Given the description of an element on the screen output the (x, y) to click on. 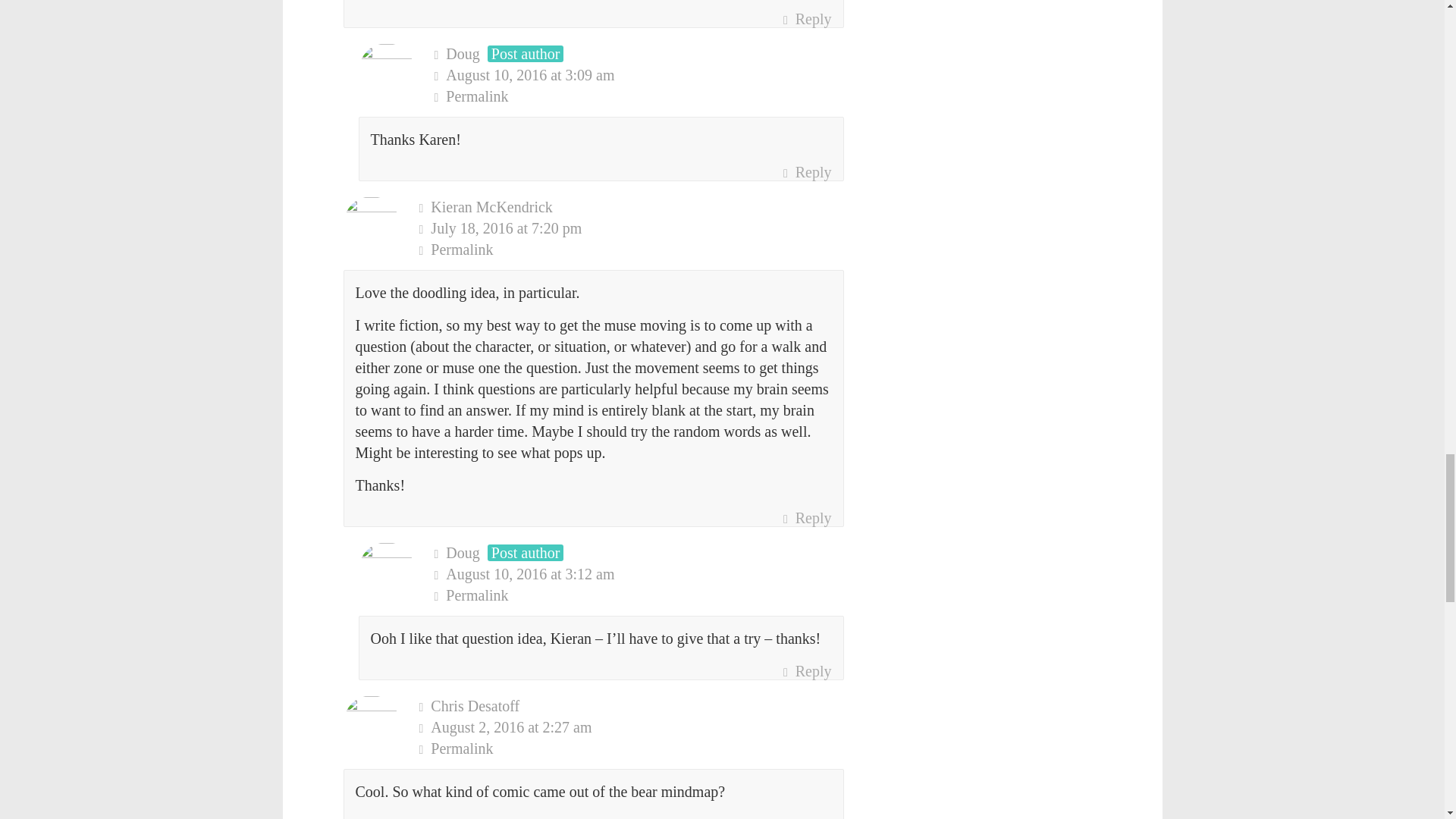
Reply (807, 670)
Reply (807, 517)
Permalink (638, 595)
Chris Desatoff (474, 705)
Reply (807, 18)
Permalink (631, 748)
Reply (807, 171)
Permalink (631, 249)
Permalink (638, 96)
